Given the description of an element on the screen output the (x, y) to click on. 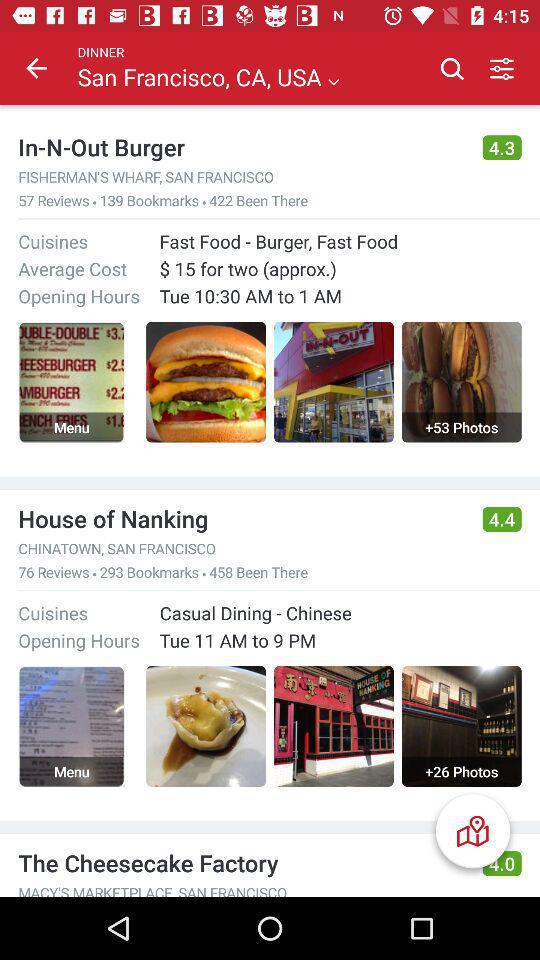
tap item below the 15 for two (250, 295)
